Given the description of an element on the screen output the (x, y) to click on. 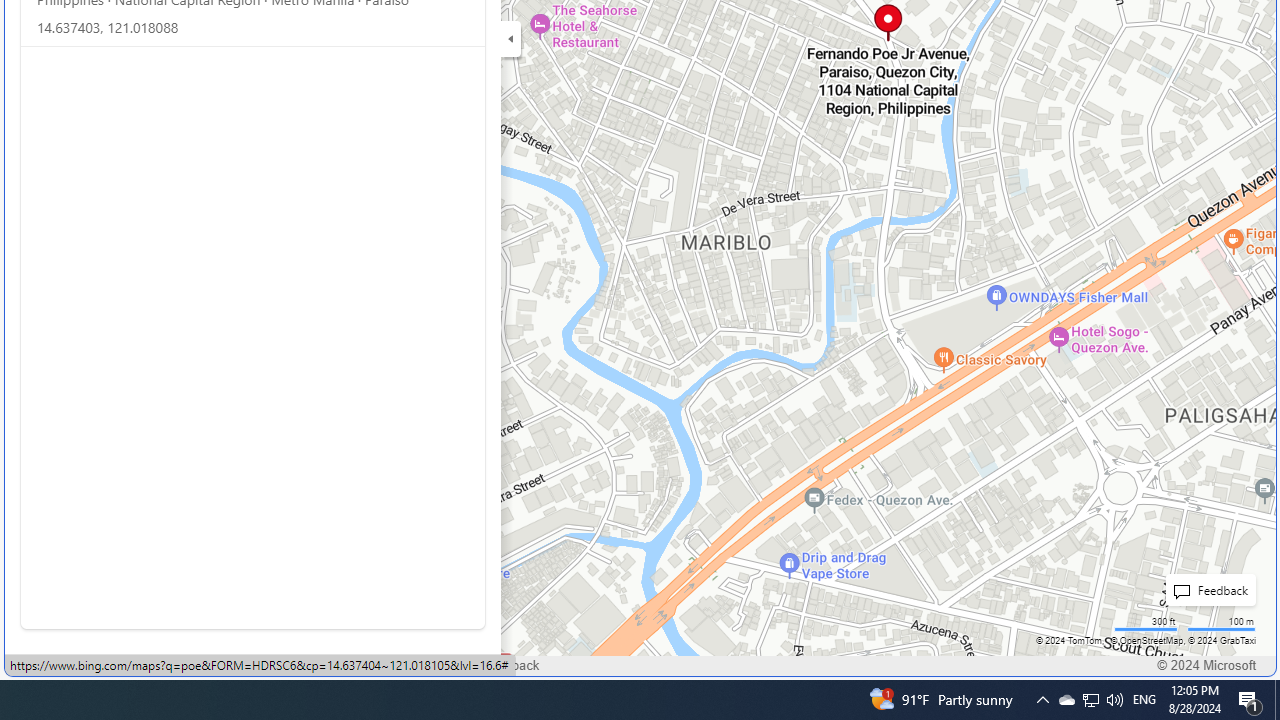
Legal (183, 665)
Feedback (511, 665)
Legal (184, 665)
Help (438, 665)
Privacy and Cookies (79, 665)
Expand/Collapse Cards (510, 38)
About our ads (354, 665)
Help (438, 665)
About our ads (354, 665)
Feedback (511, 665)
Privacy and Cookies (79, 665)
Advertise (257, 665)
Advertise (257, 665)
